Given the description of an element on the screen output the (x, y) to click on. 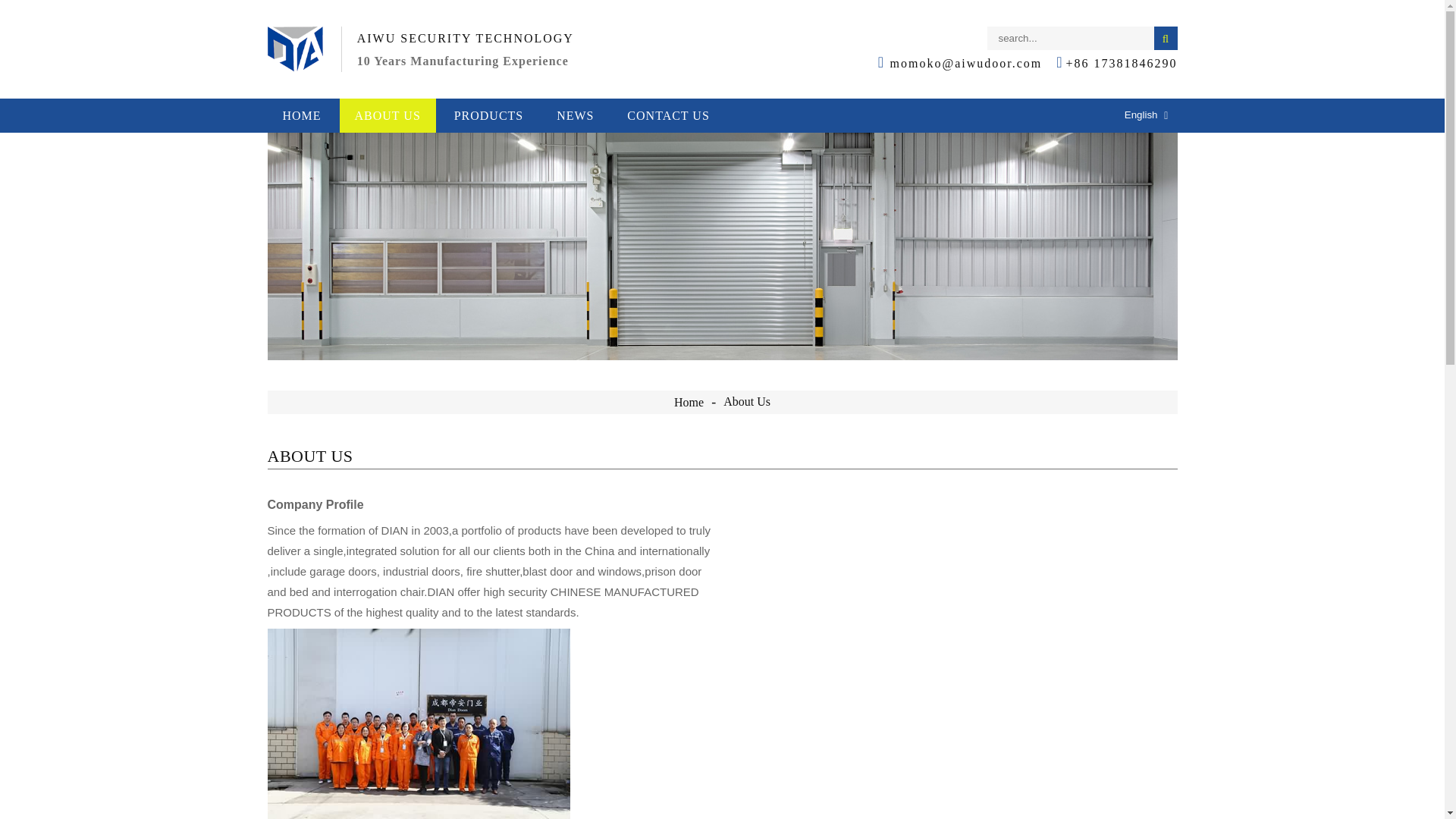
Home (688, 401)
ABOUT US (387, 115)
PRODUCTS (488, 115)
English (1128, 114)
NEWS (574, 115)
HOME (301, 115)
About Us (746, 400)
CONTACT US (667, 115)
